Given the description of an element on the screen output the (x, y) to click on. 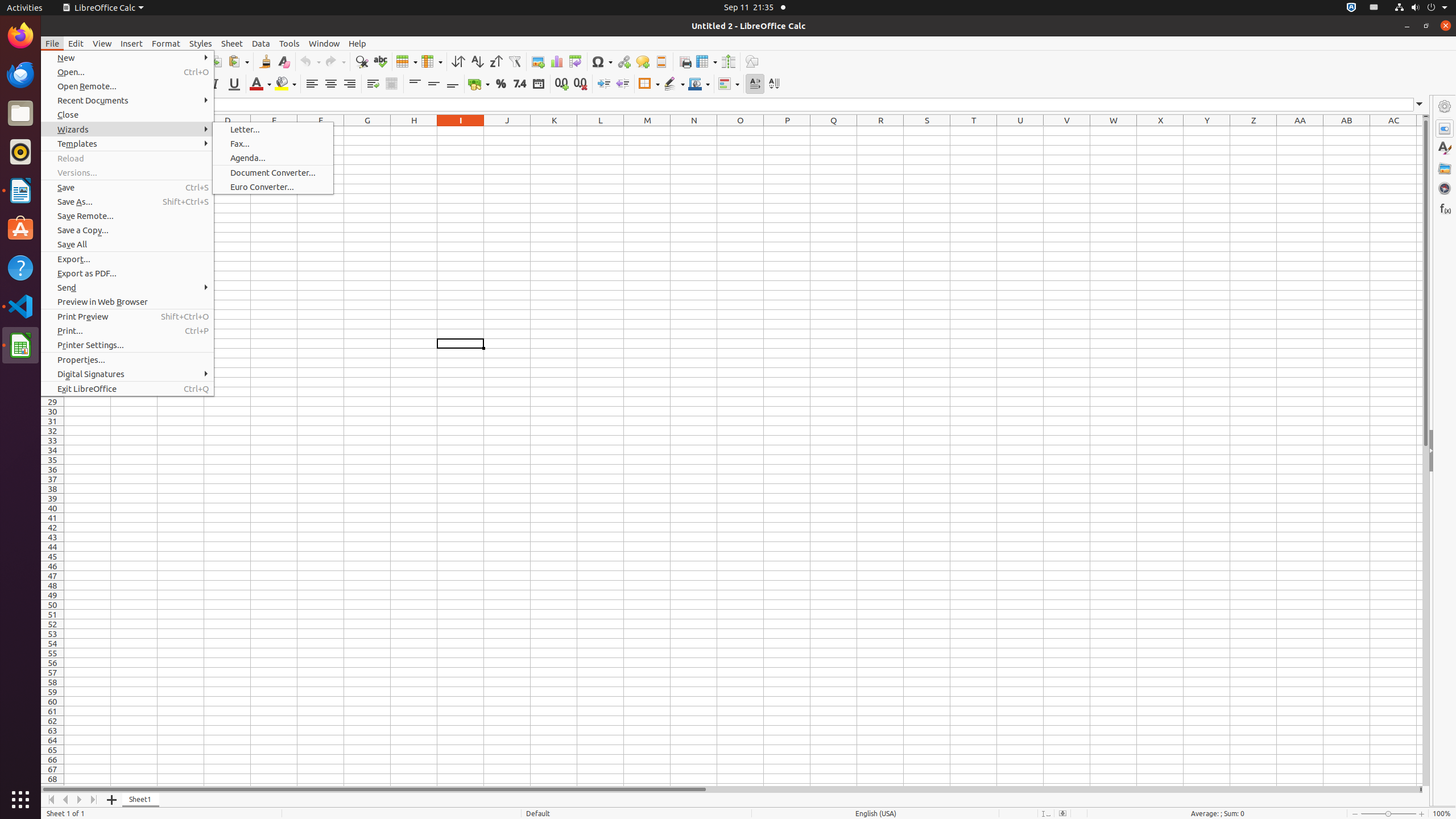
Printer Settings... Element type: menu-item (126, 344)
Templates Element type: menu (126, 143)
Styles Element type: menu (200, 43)
Expand Formula Bar Element type: push-button (1419, 104)
Move Left Element type: push-button (65, 799)
